Given the description of an element on the screen output the (x, y) to click on. 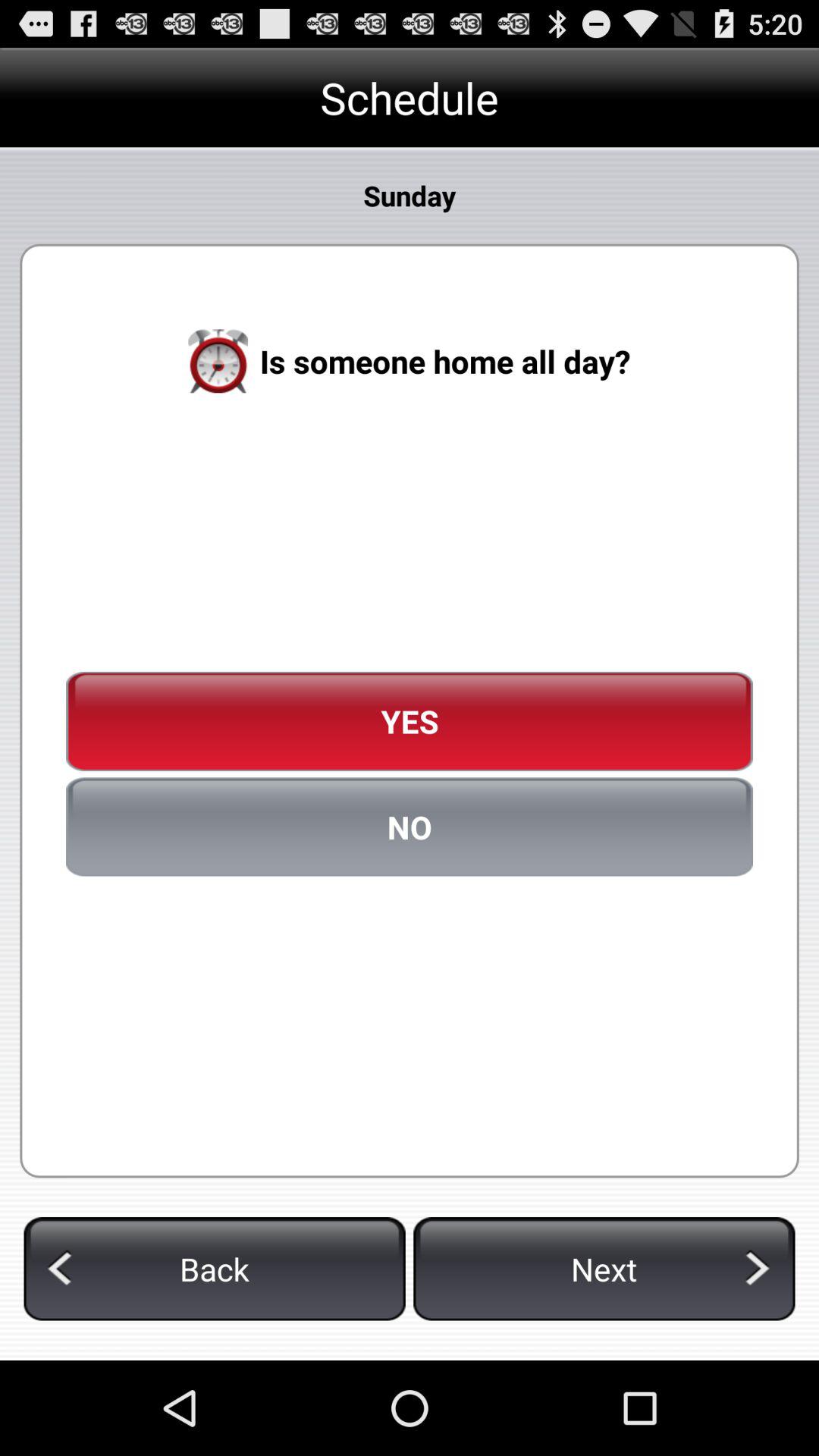
choose yes icon (409, 721)
